Given the description of an element on the screen output the (x, y) to click on. 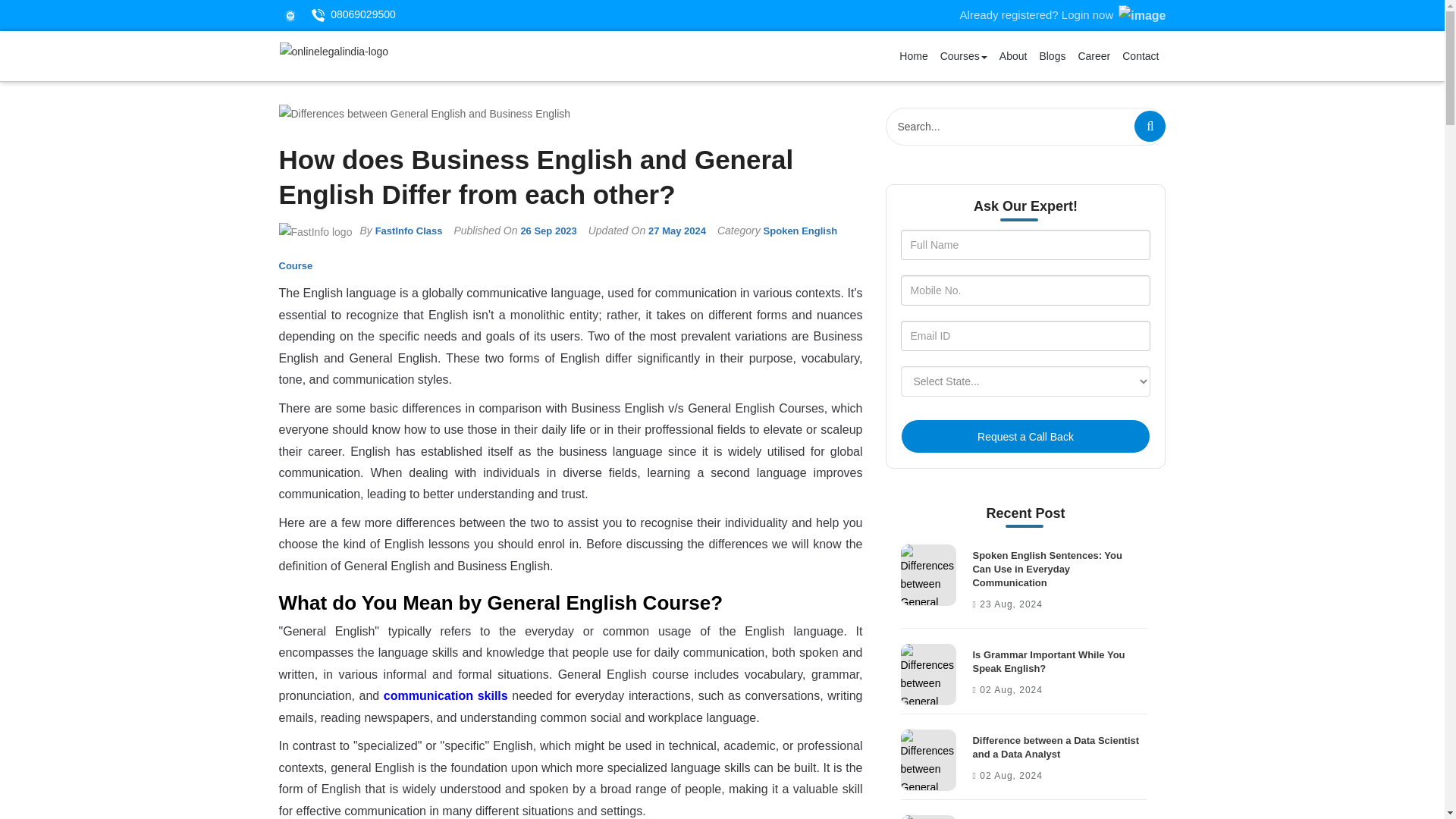
Contact (1140, 55)
Published On 26 Sep 2023 (518, 230)
Differences between General English and Business English (928, 759)
By FastInfo Class (365, 230)
communication skills (446, 695)
Differences between General English and Business English (928, 574)
Courses (963, 55)
Differences between General English and Business English (928, 816)
08069029500 (350, 14)
Updated On 27 May 2024 (651, 230)
